Given the description of an element on the screen output the (x, y) to click on. 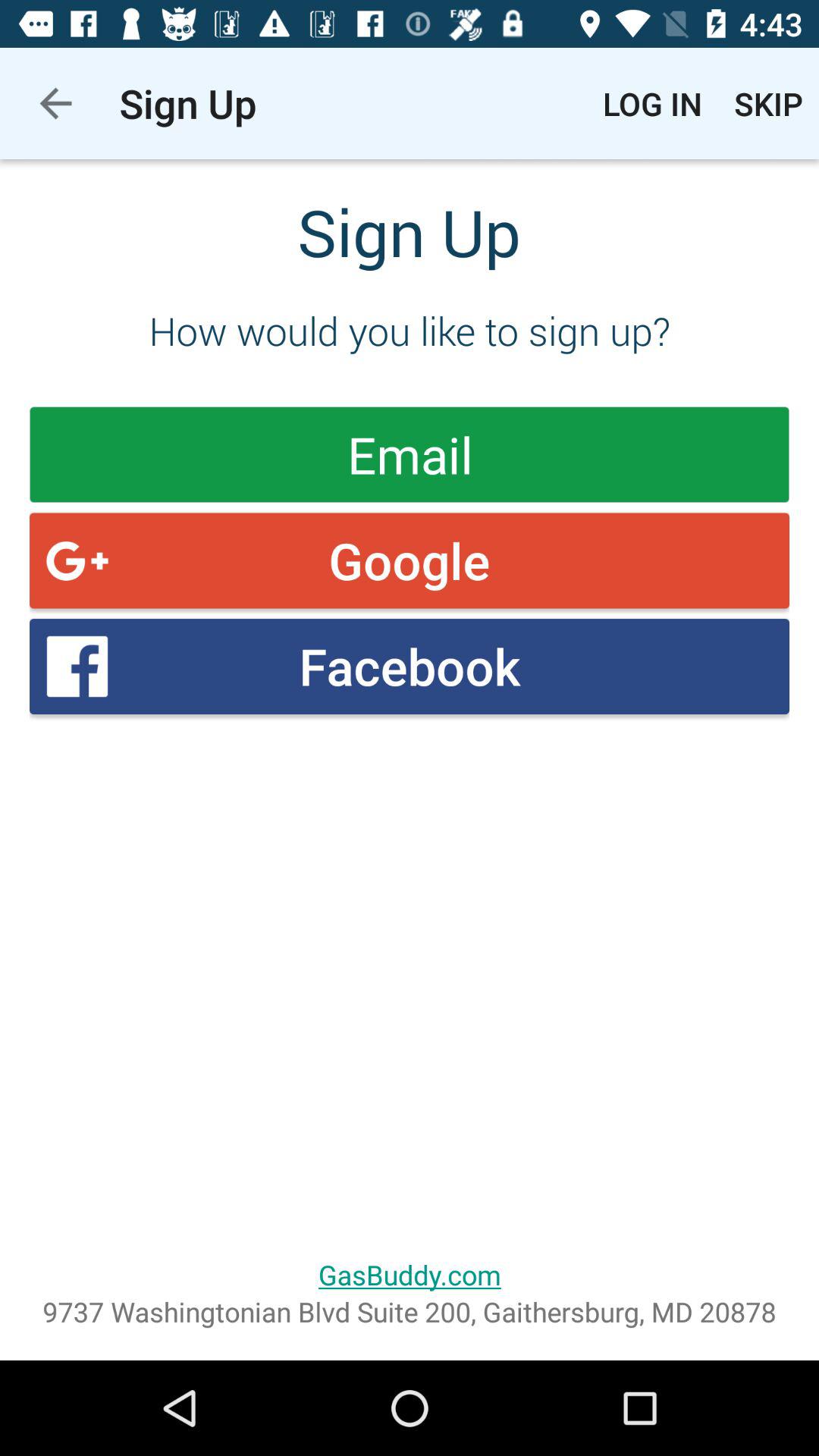
click the app to the left of the sign up (55, 103)
